Given the description of an element on the screen output the (x, y) to click on. 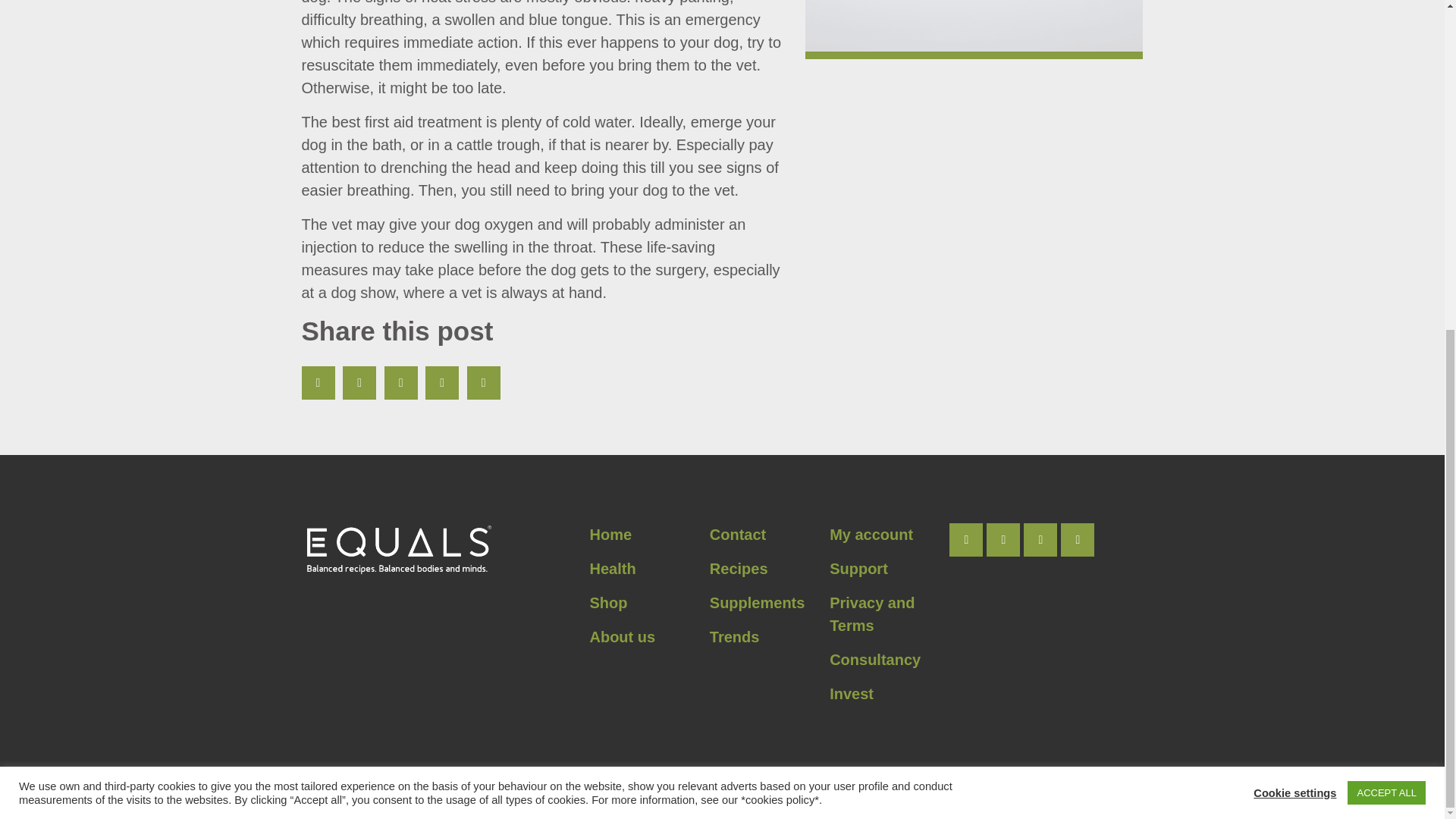
Support (858, 568)
Privacy and Terms (871, 613)
Deel op linkedin (441, 382)
Home (610, 534)
Shop (608, 602)
Tweet dit! (358, 382)
Deel op WhatsApp (483, 382)
Deel op pinterest (400, 382)
Trends (735, 636)
Supplements (757, 602)
About us (622, 636)
Recipes (739, 568)
My account (870, 534)
Contact (737, 534)
Deel op Facebook. (317, 382)
